Given the description of an element on the screen output the (x, y) to click on. 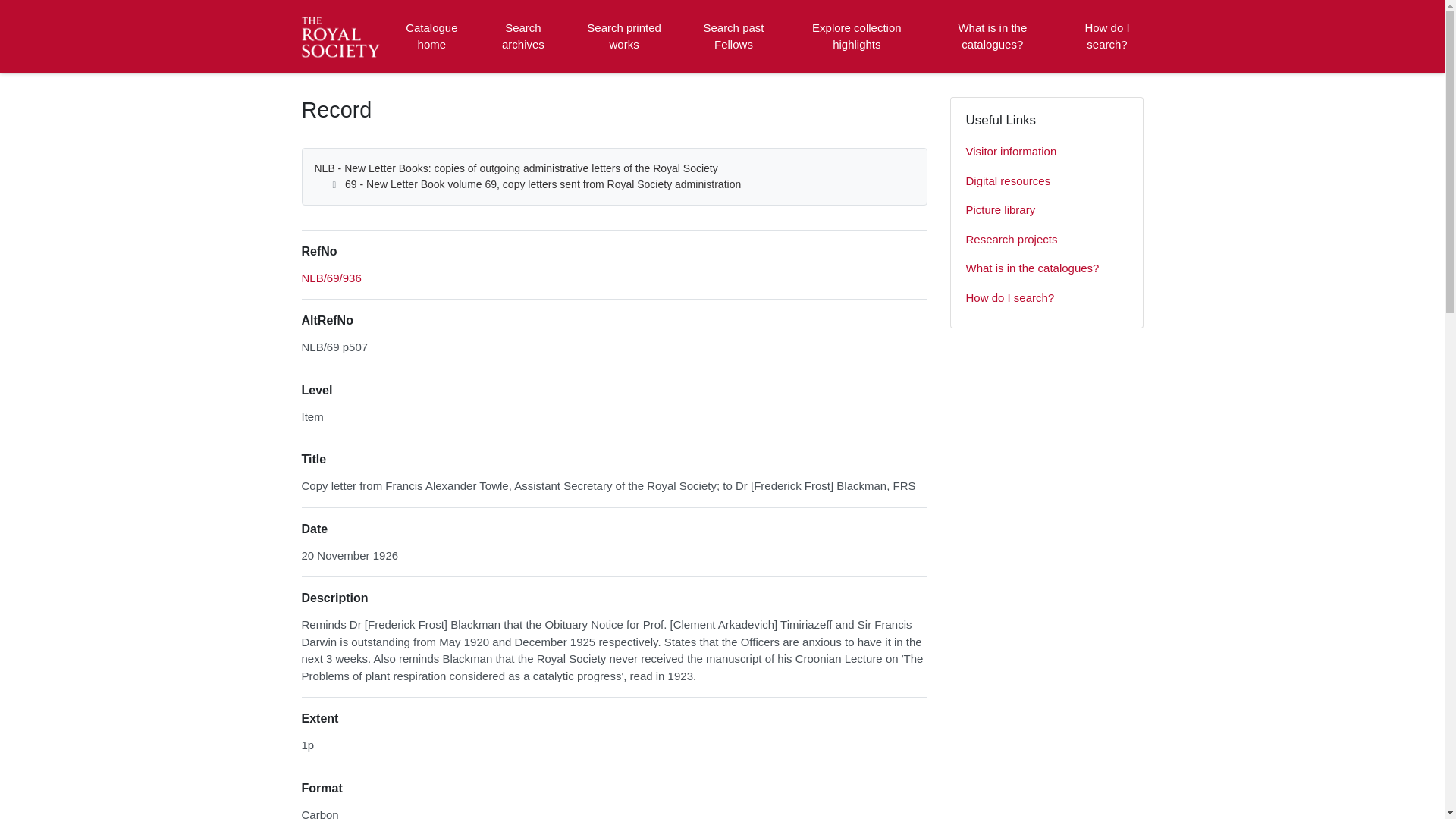
Visitor information (1046, 152)
Search printed works (624, 36)
Digital resources (1046, 181)
How do I search? (1046, 297)
Catalogue home (431, 36)
Search archives (522, 36)
What is in the catalogues? (991, 36)
Picture library (1046, 210)
Homepage (343, 36)
Search past Fellows (732, 36)
What is in the catalogues? (1046, 268)
Browse record in hierarchy. (331, 277)
How do I search? (1106, 36)
